Given the description of an element on the screen output the (x, y) to click on. 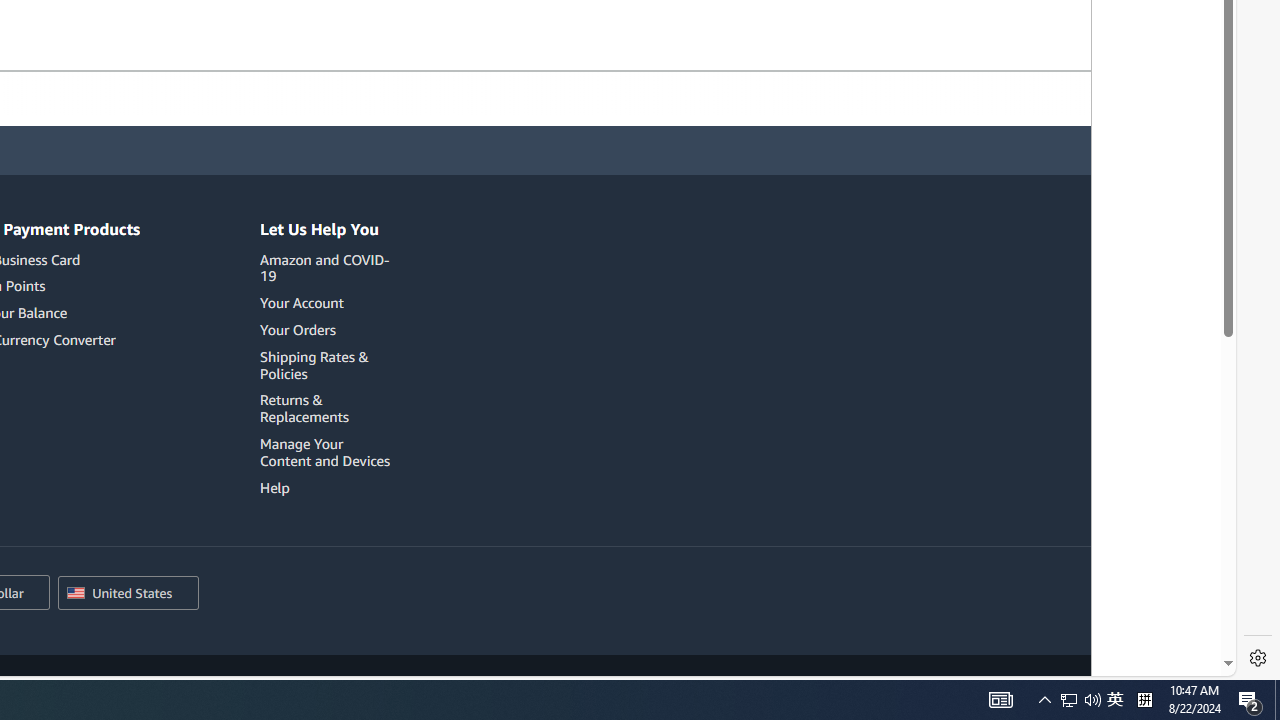
Returns & Replacements (304, 408)
